Given the description of an element on the screen output the (x, y) to click on. 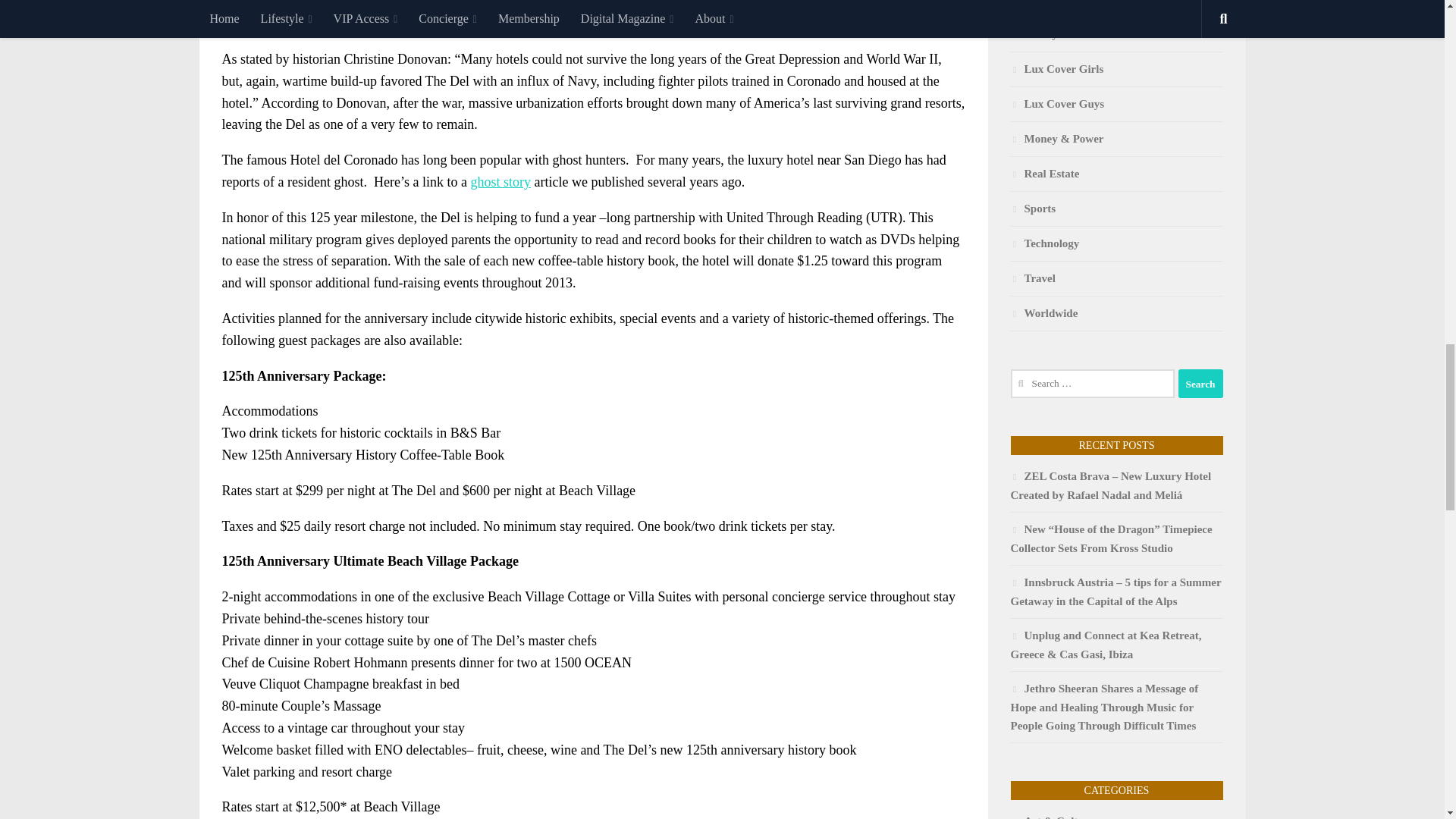
Hotel del Coronado ghost (500, 181)
Search (1200, 383)
Search (1200, 383)
